Given the description of an element on the screen output the (x, y) to click on. 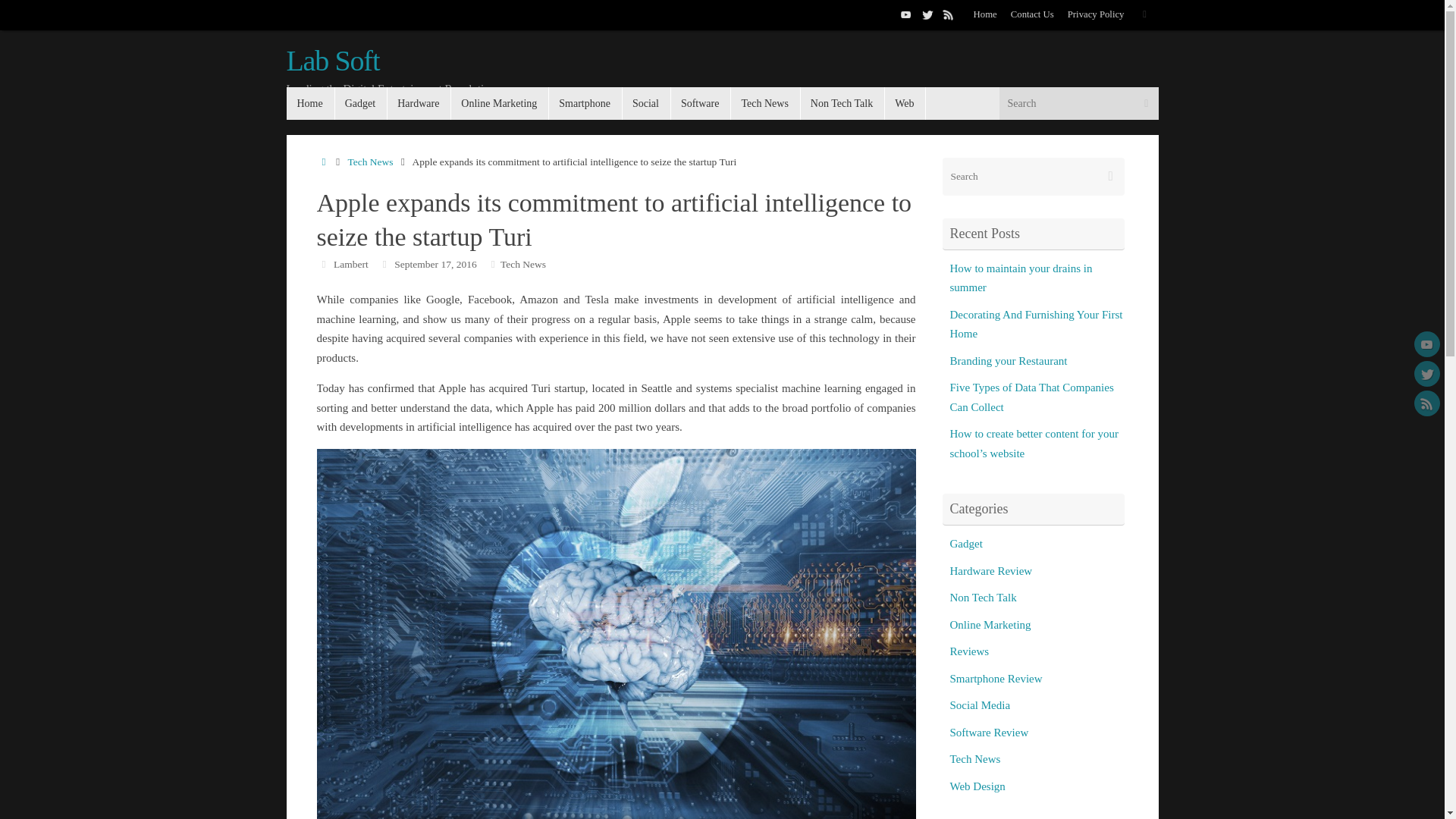
YouTube (906, 14)
Smartphone (584, 102)
September 17, 2016 (435, 264)
Home (985, 15)
Lab Soft (333, 60)
Author  (324, 264)
View all posts by Lambert (350, 264)
Tech News (764, 102)
Twitter (927, 14)
RSS (948, 14)
